Given the description of an element on the screen output the (x, y) to click on. 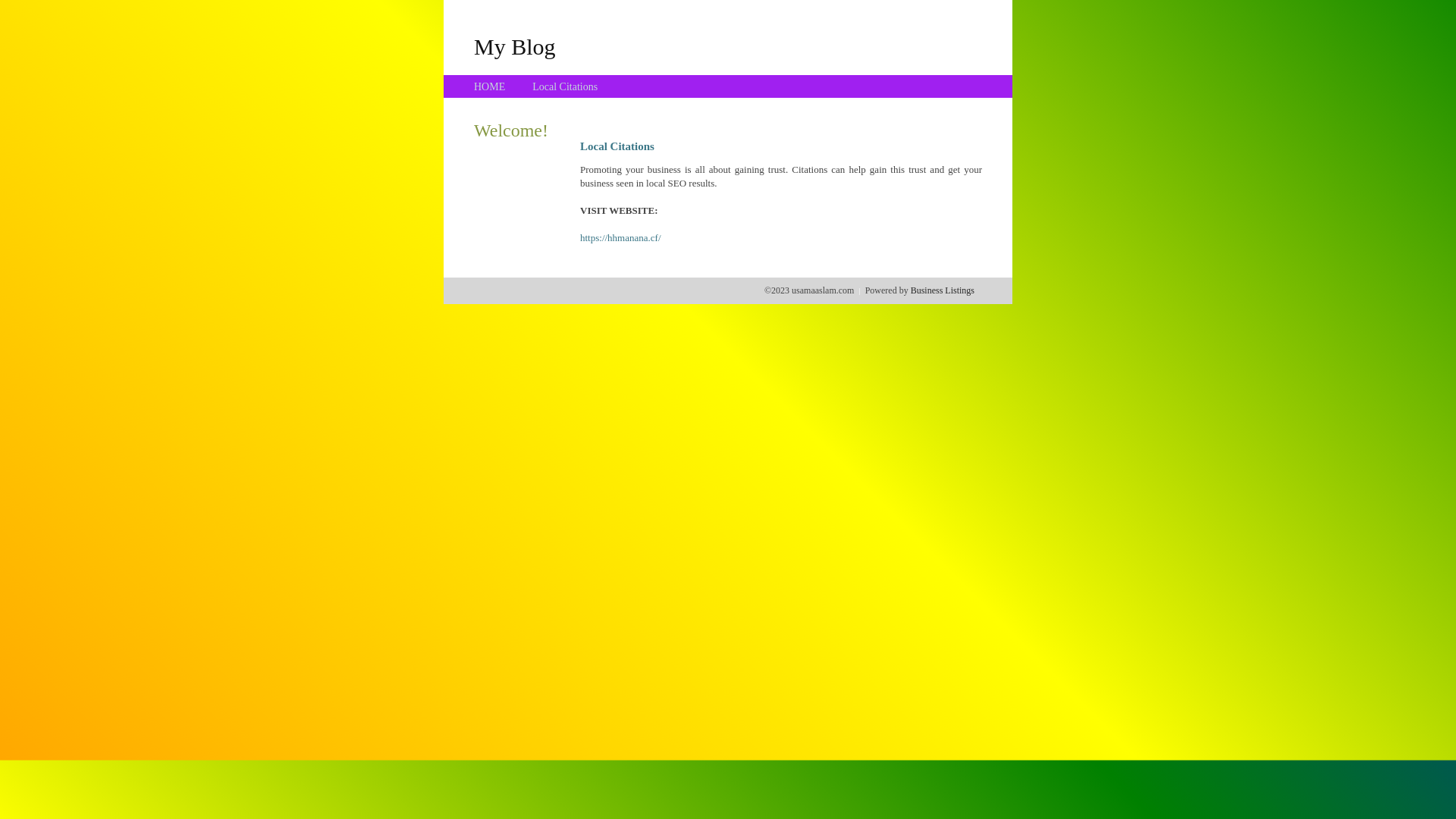
Business Listings Element type: text (942, 290)
Local Citations Element type: text (564, 86)
HOME Element type: text (489, 86)
My Blog Element type: text (514, 46)
https://hhmanana.cf/ Element type: text (620, 237)
